Given the description of an element on the screen output the (x, y) to click on. 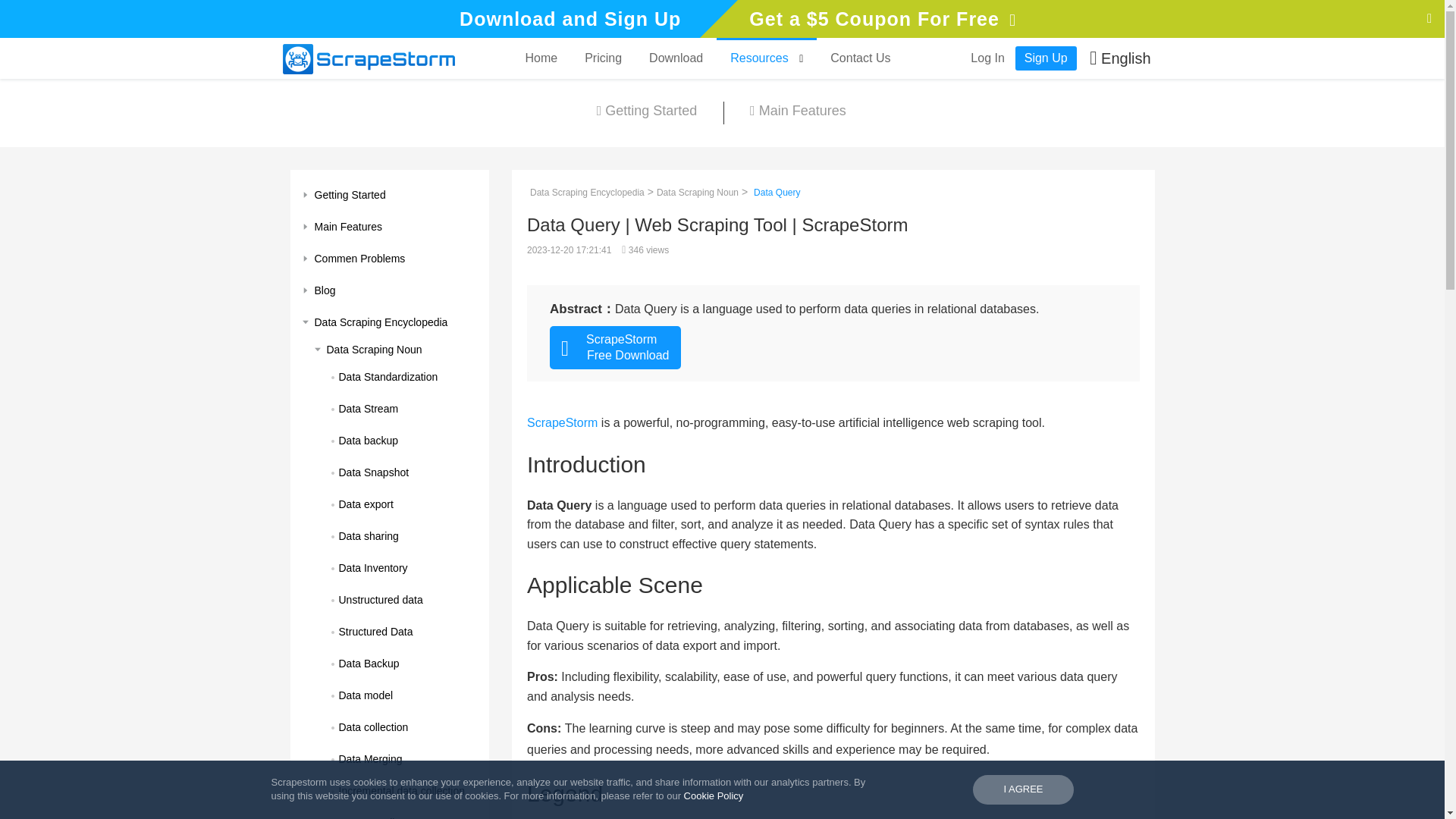
Main Features (389, 226)
Getting Started (646, 112)
Resources (766, 58)
Contact Us (860, 57)
Main Features (796, 112)
Getting Started (389, 194)
Sign Up (1045, 57)
Pricing (602, 57)
Download (675, 57)
Log In (986, 57)
